Given the description of an element on the screen output the (x, y) to click on. 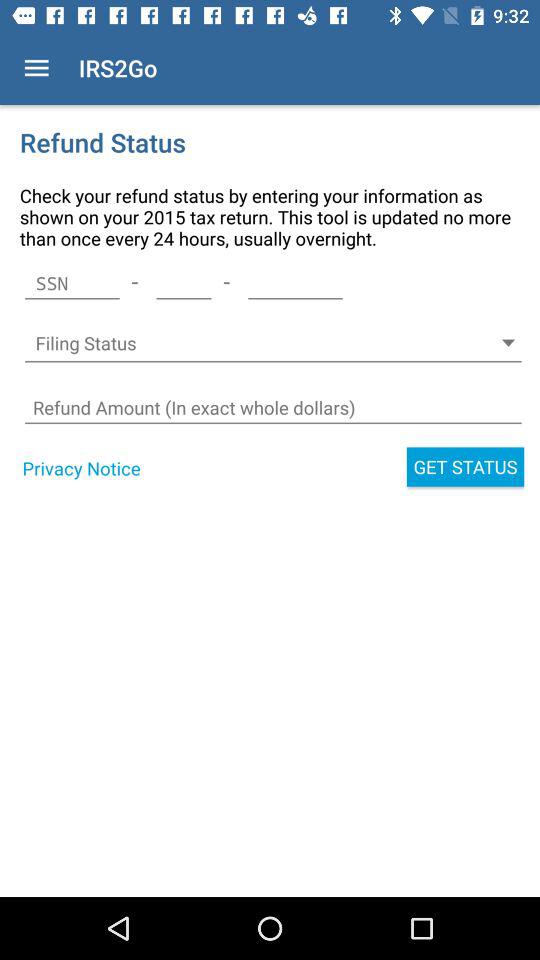
tap the icon next to the - item (295, 283)
